Given the description of an element on the screen output the (x, y) to click on. 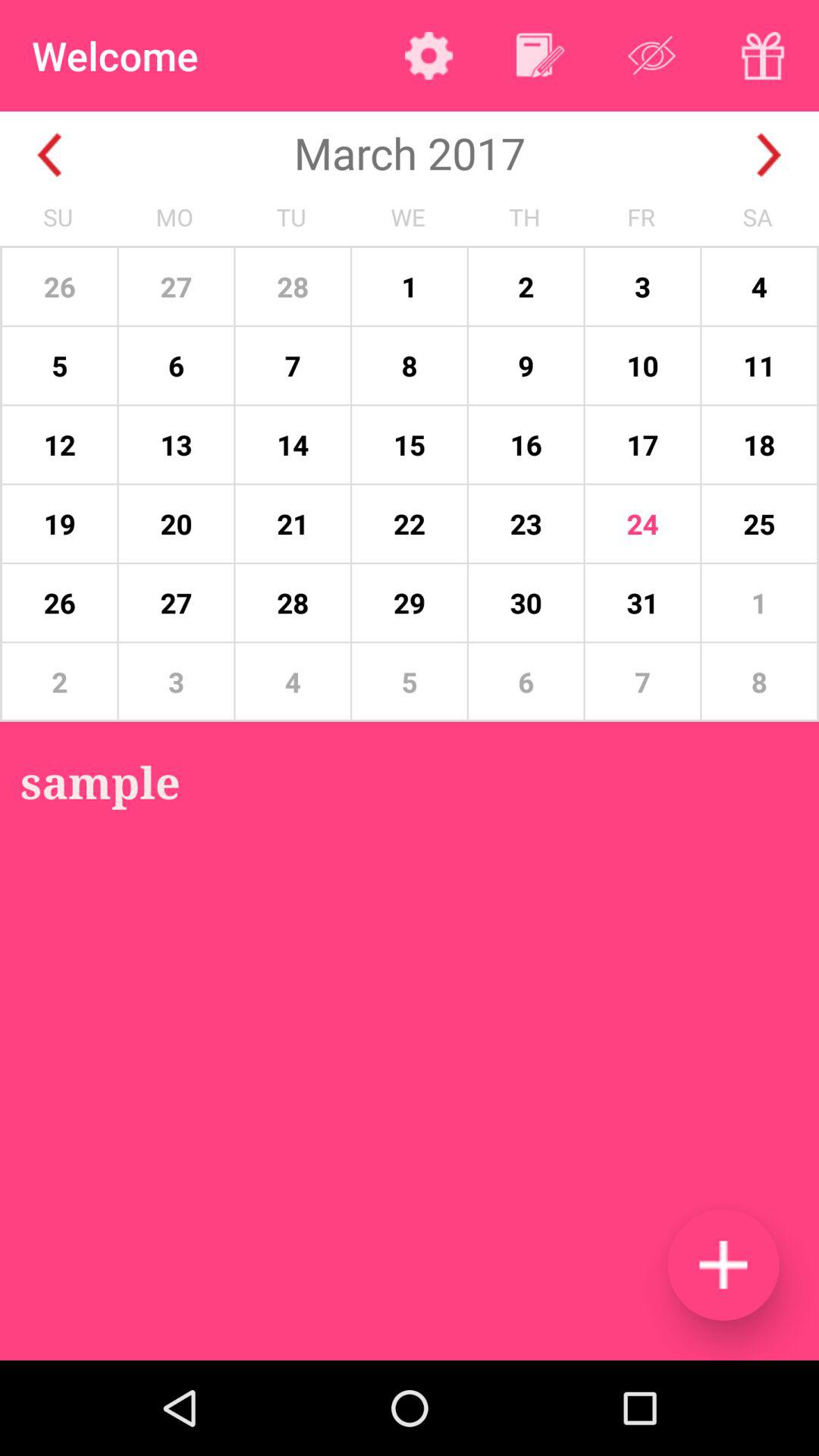
view next month (769, 155)
